Given the description of an element on the screen output the (x, y) to click on. 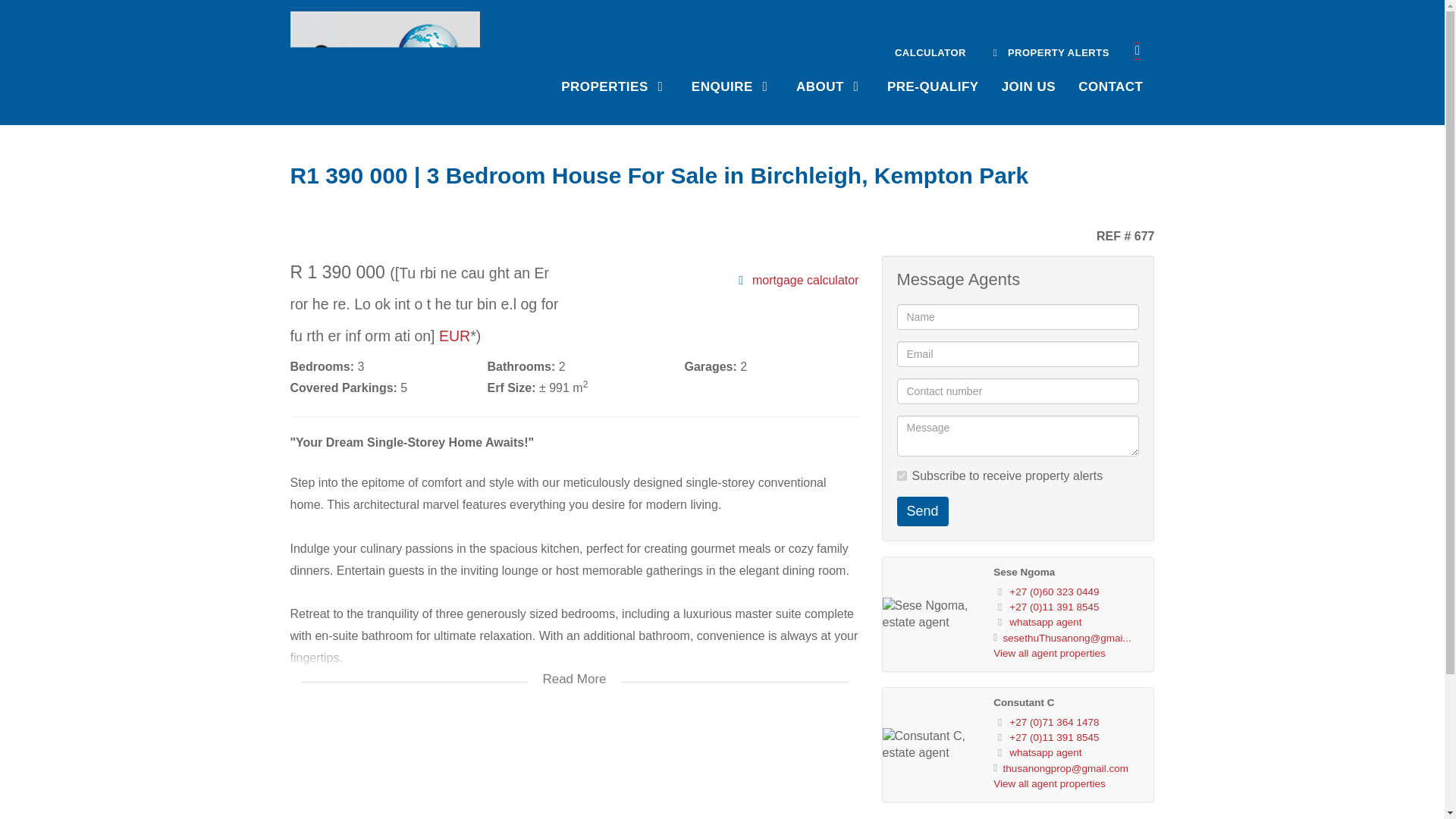
EUR (454, 335)
JOIN US (1028, 84)
Read More (574, 669)
Thusanong Property Solutions , Estate Agency Logo (384, 56)
ABOUT (830, 84)
on (900, 475)
CONTACT (1110, 84)
CALCULATOR (929, 50)
ENQUIRE (731, 84)
PRE-QUALIFY (933, 84)
